Given the description of an element on the screen output the (x, y) to click on. 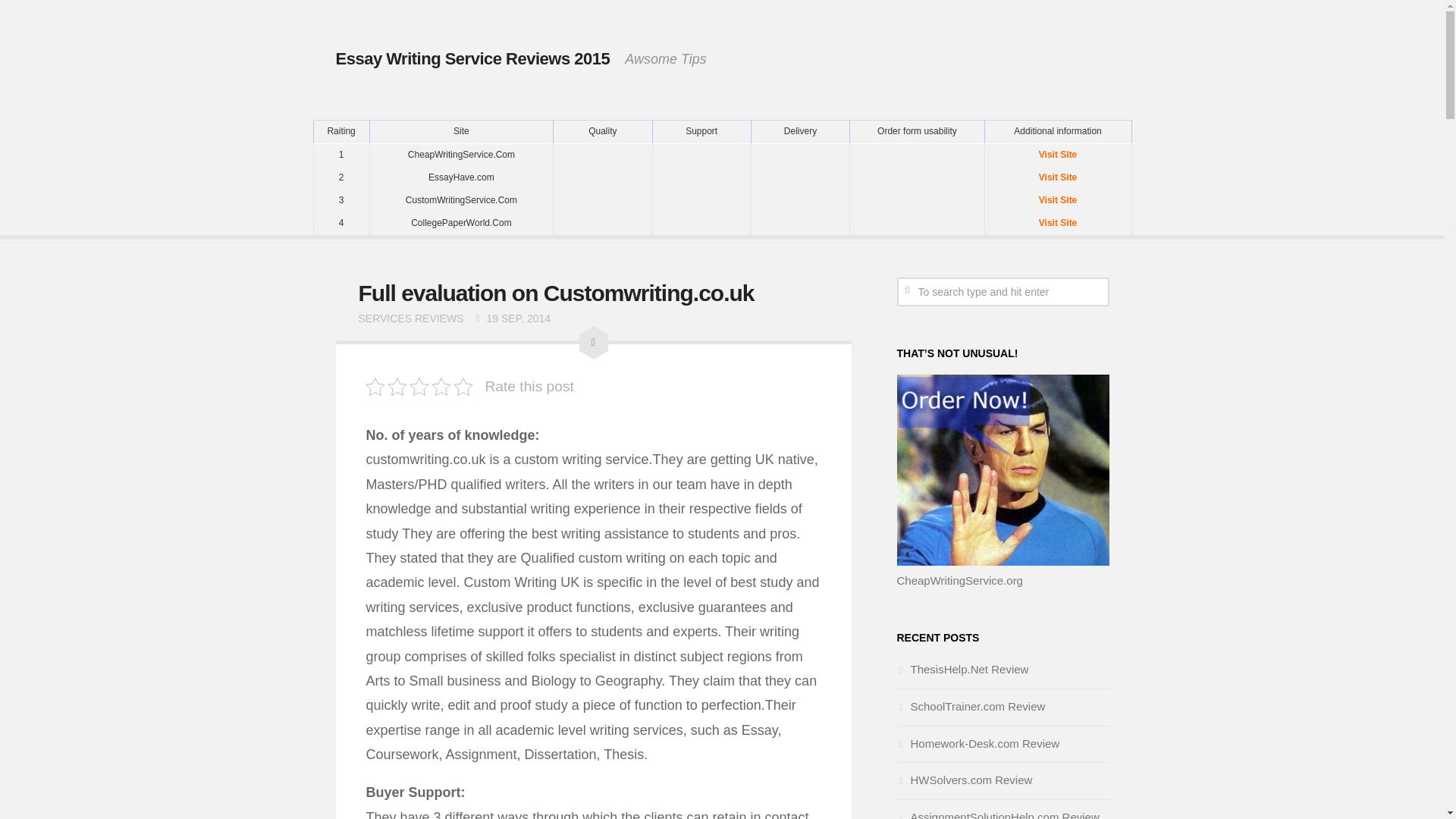
ThesisHelp.Net Review (961, 668)
CheapWritingService.org (959, 580)
SchoolTrainer.com Review (970, 706)
Homework-Desk.com Review (977, 743)
SERVICES REVIEWS (410, 318)
AssignmentSolutionHelp.com Review (997, 814)
Visit Site (1057, 199)
HWSolvers.com Review (964, 779)
To search type and hit enter (1002, 291)
To search type and hit enter (1002, 291)
